Given the description of an element on the screen output the (x, y) to click on. 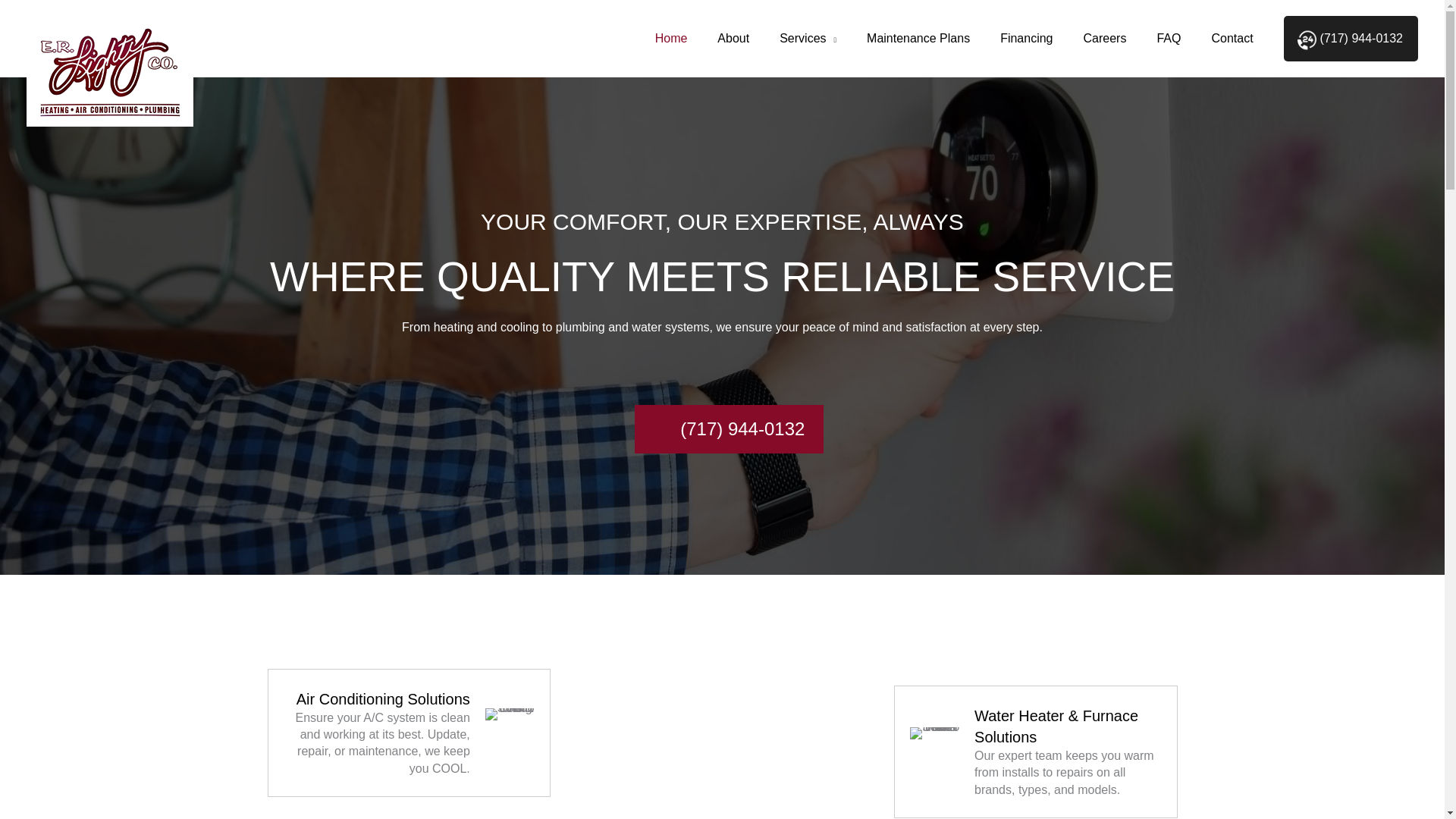
FAQ (1168, 38)
Home (671, 38)
Contact (1231, 38)
Maintenance Plans (918, 38)
Air Conditioning Solutions (509, 732)
Careers (1104, 38)
Financing (1026, 38)
Services (807, 38)
About (732, 38)
